Given the description of an element on the screen output the (x, y) to click on. 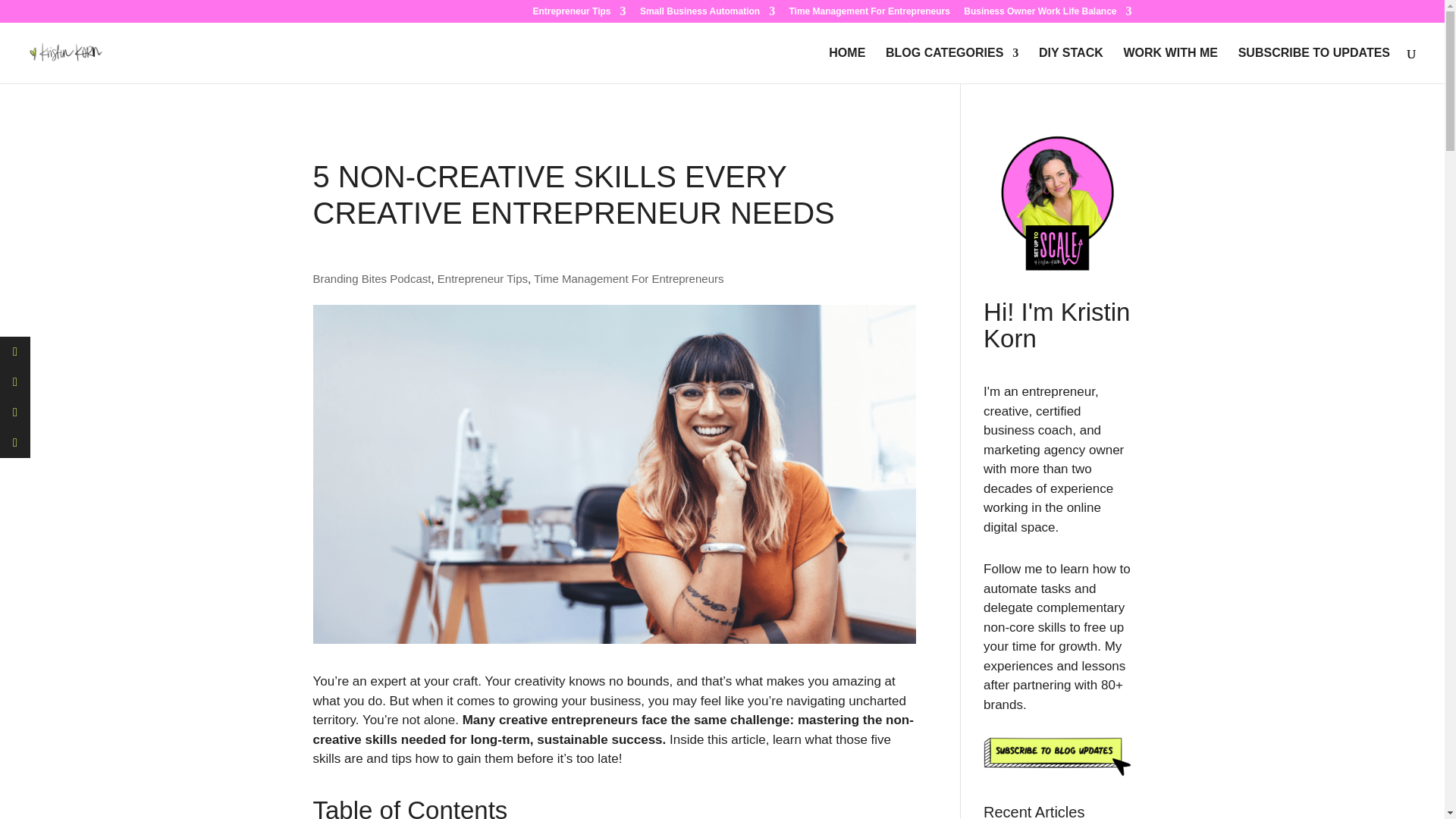
Business Owner Work Life Balance (1047, 14)
BLOG CATEGORIES (951, 65)
Entrepreneur Tips (579, 14)
DIY STACK (1071, 65)
Small Business Automation (707, 14)
WORK WITH ME (1170, 65)
Time Management For Entrepreneurs (869, 14)
SUBSCRIBE TO UPDATES (1314, 65)
HOME (846, 65)
